Given the description of an element on the screen output the (x, y) to click on. 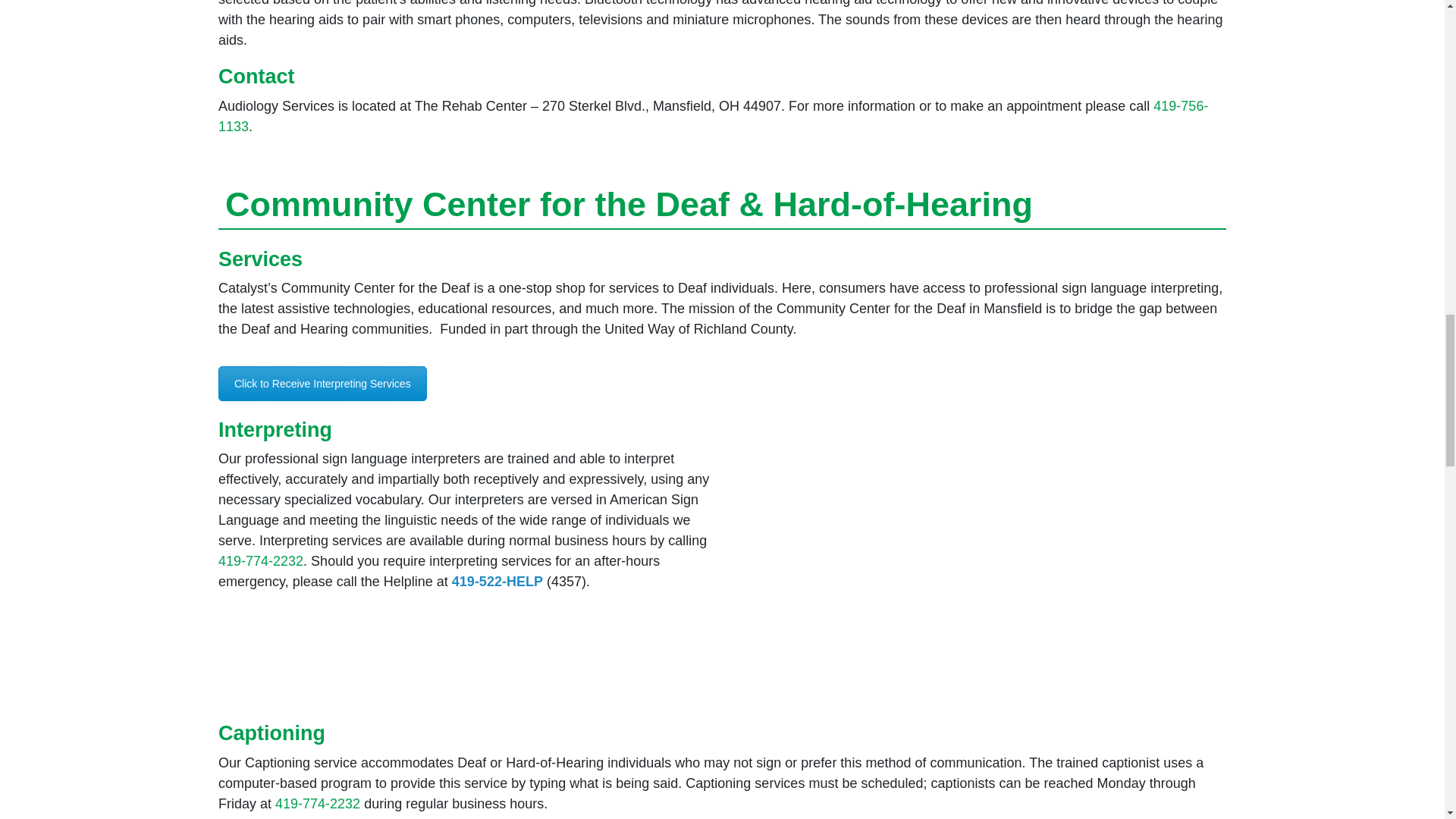
419-774-2232 (317, 803)
Click to Receive Interpreting Services (322, 383)
419-522-HELP (497, 581)
419-756-1133 (713, 116)
419-774-2232 (260, 560)
